Given the description of an element on the screen output the (x, y) to click on. 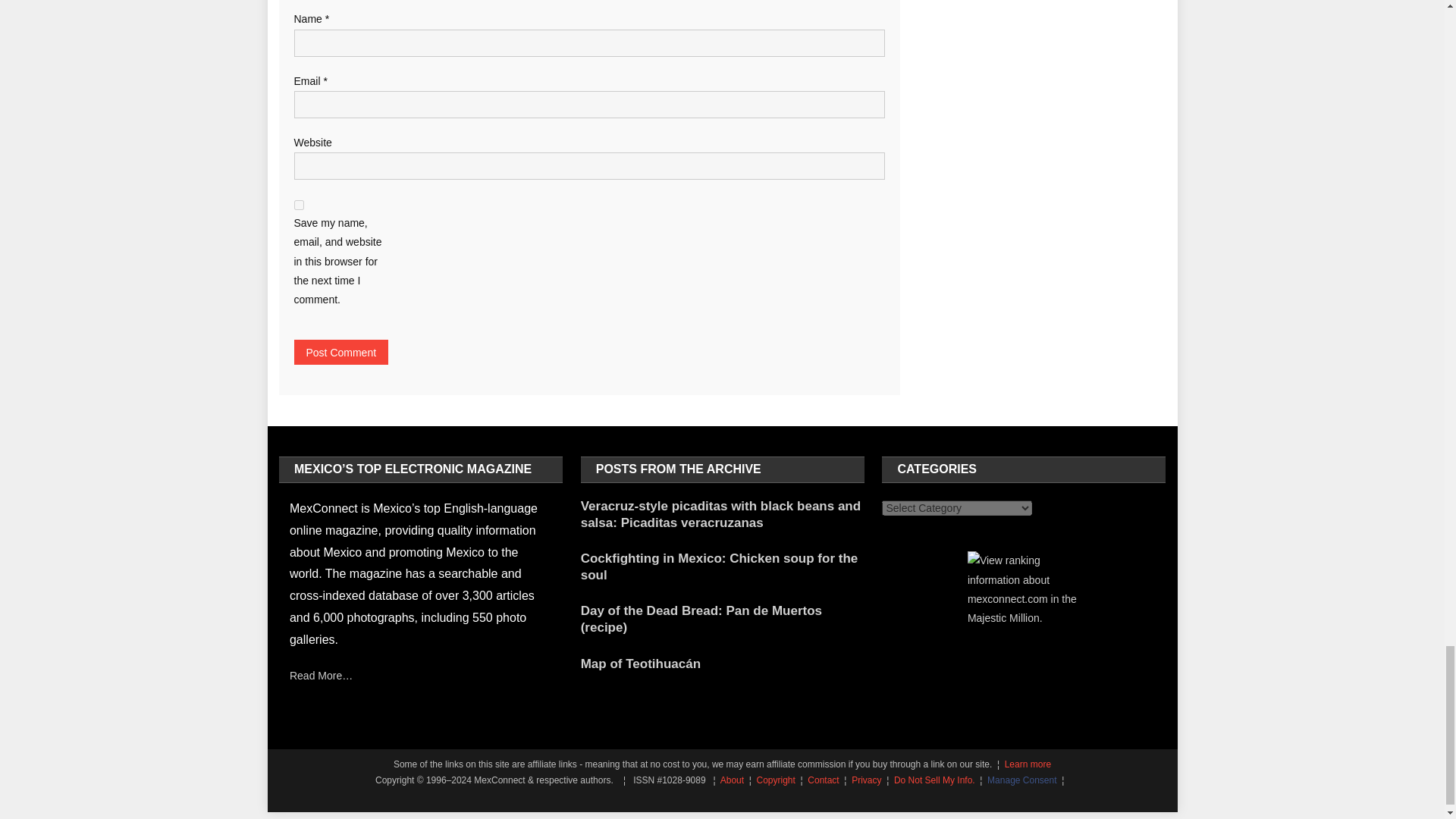
Post Comment (341, 351)
yes (299, 204)
